Given the description of an element on the screen output the (x, y) to click on. 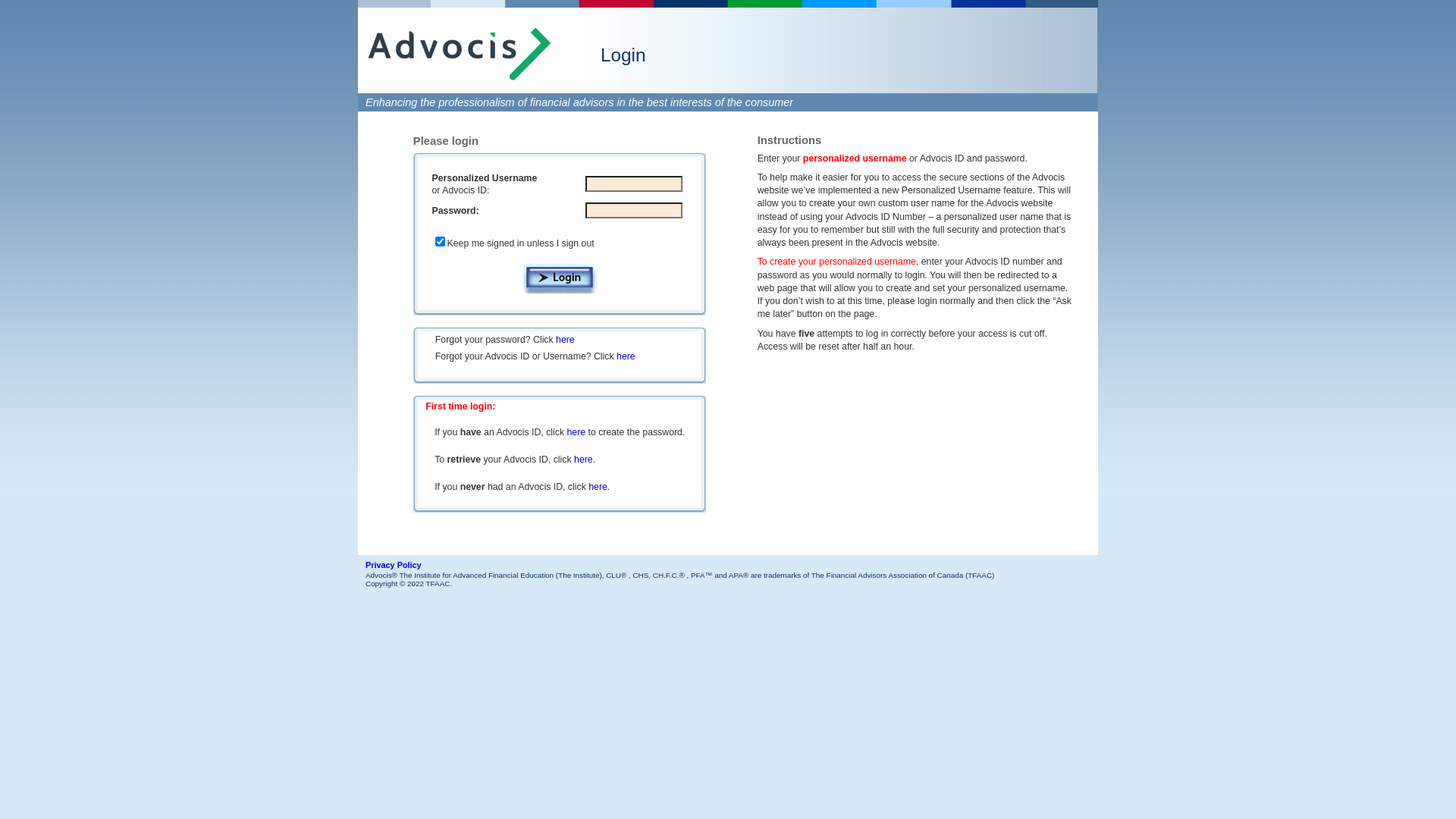
here Element type: text (564, 339)
here Element type: text (597, 486)
Privacy Policy Element type: text (393, 565)
here Element type: text (583, 459)
here Element type: text (625, 356)
here Element type: text (575, 431)
